Given the description of an element on the screen output the (x, y) to click on. 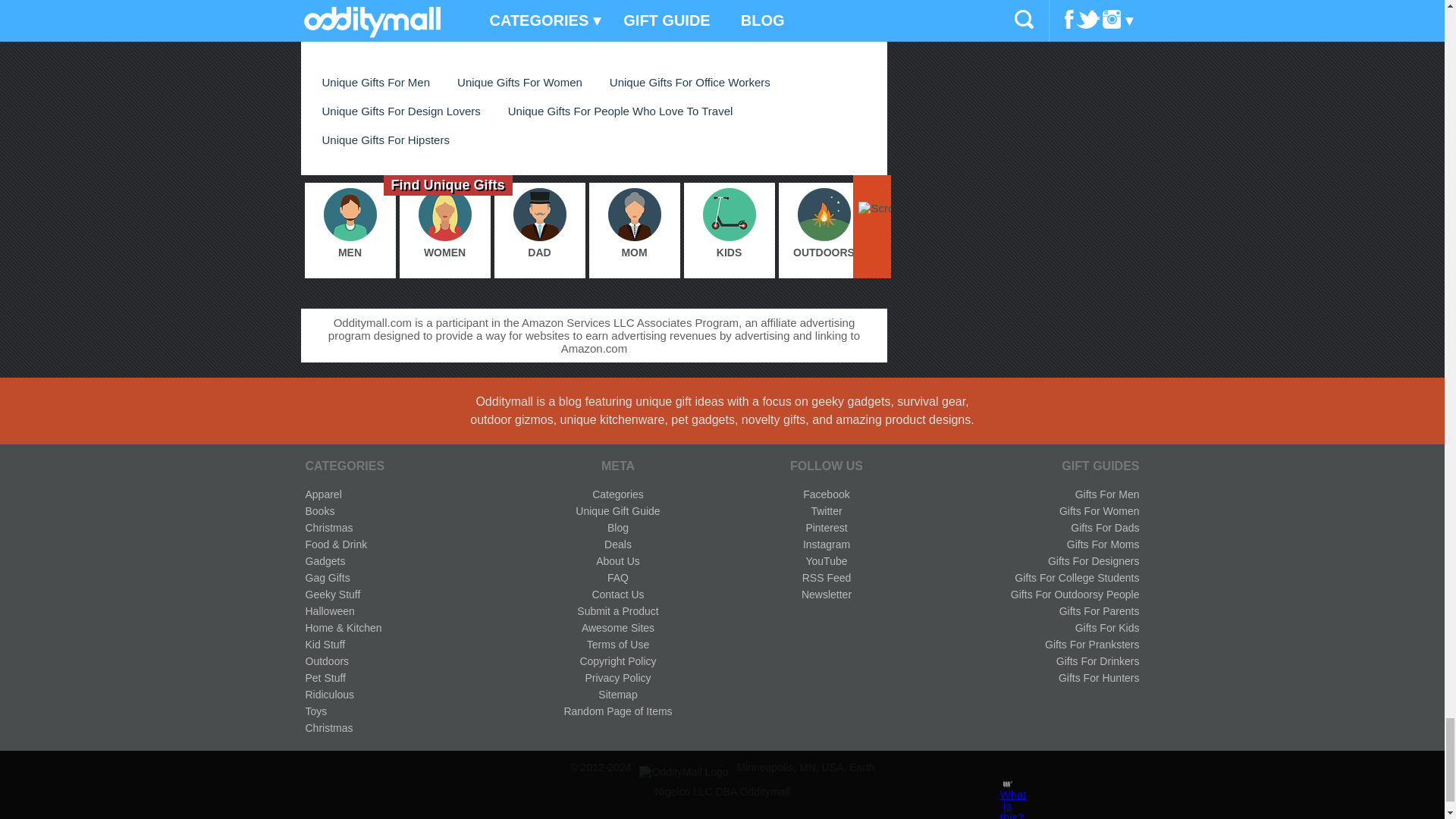
Unique Gifts For Women (519, 81)
Unique Gifts For Design Lovers (400, 110)
Unique Gifts For Design Lovers (400, 110)
Unique Gifts For Women (519, 81)
Unique Gifts For Office Workers (690, 81)
Unique Gifts For Office Workers (690, 81)
Find on Etsy (598, 24)
Unique Gifts For Men (375, 81)
Unique Gifts For People Who Love To Travel (620, 110)
Unique Gifts For Men (375, 81)
Unique Gifts For Hipsters (384, 139)
